Given the description of an element on the screen output the (x, y) to click on. 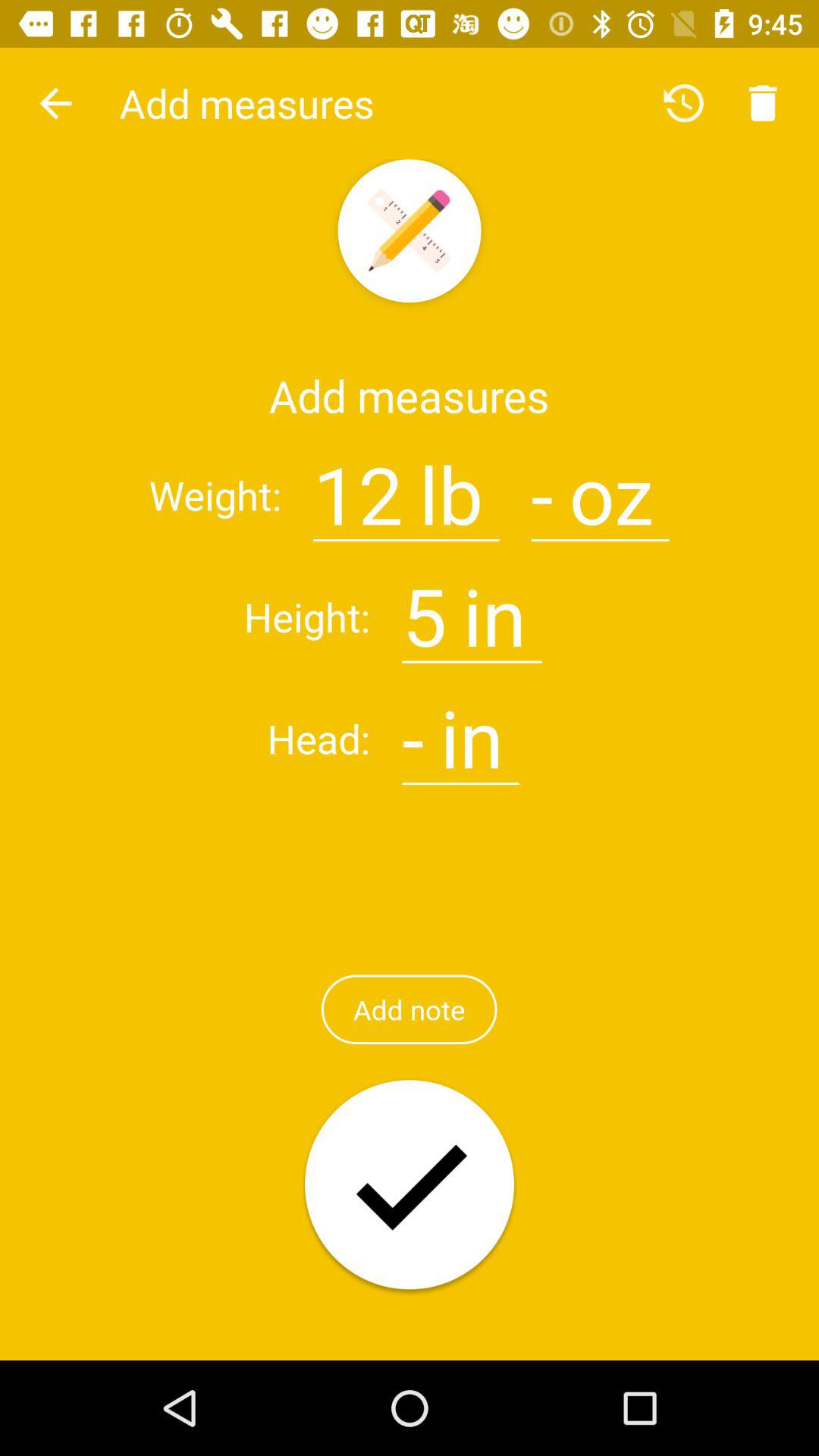
launch the icon next to in icon (424, 607)
